Given the description of an element on the screen output the (x, y) to click on. 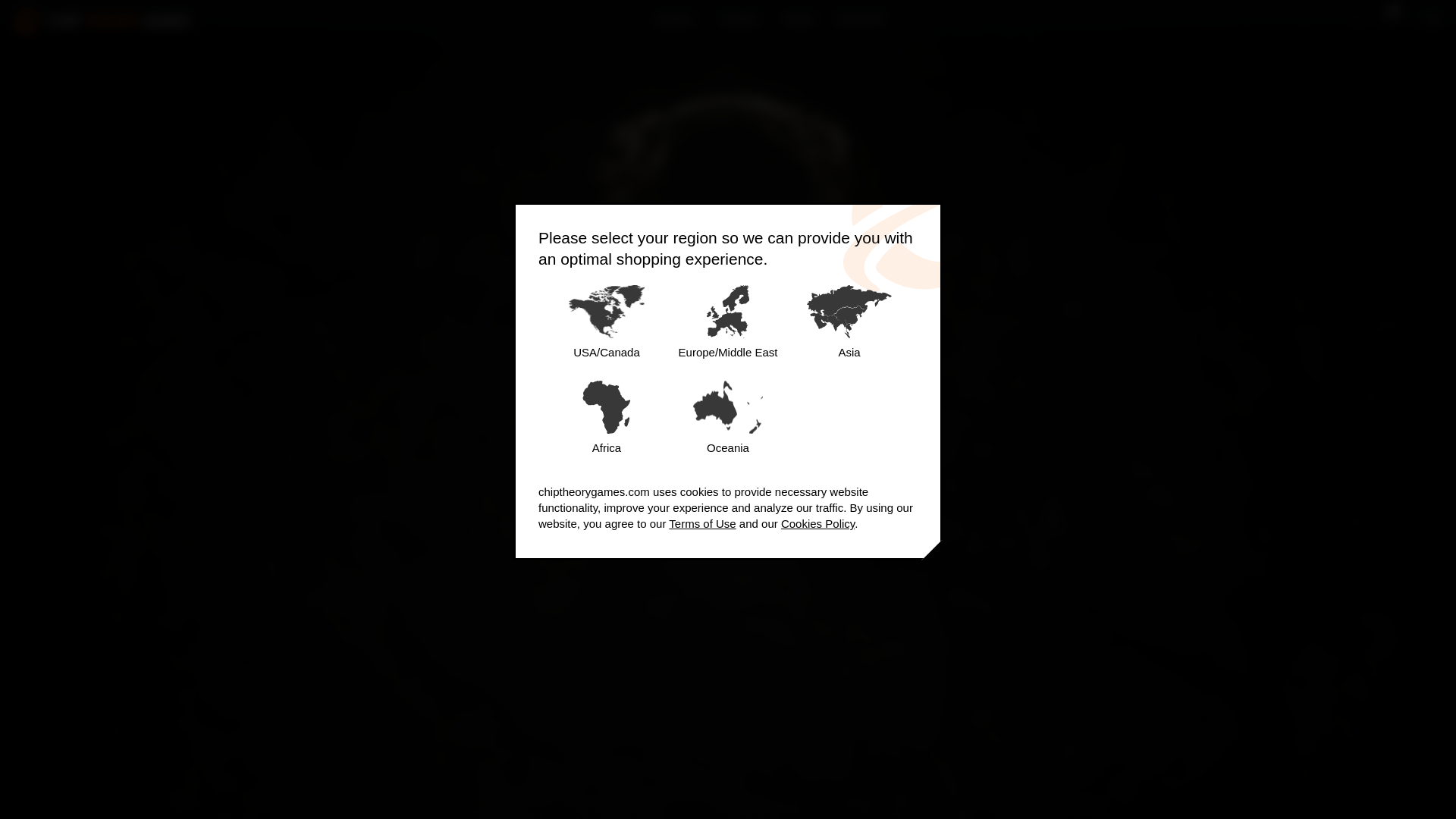
GAMES (676, 20)
Games (676, 20)
Store (741, 20)
NA (1425, 19)
STORE (741, 20)
0 (1387, 19)
Change Region (1425, 19)
NEWS (799, 20)
SUPPORT (860, 20)
News (799, 20)
Support (860, 20)
